Given the description of an element on the screen output the (x, y) to click on. 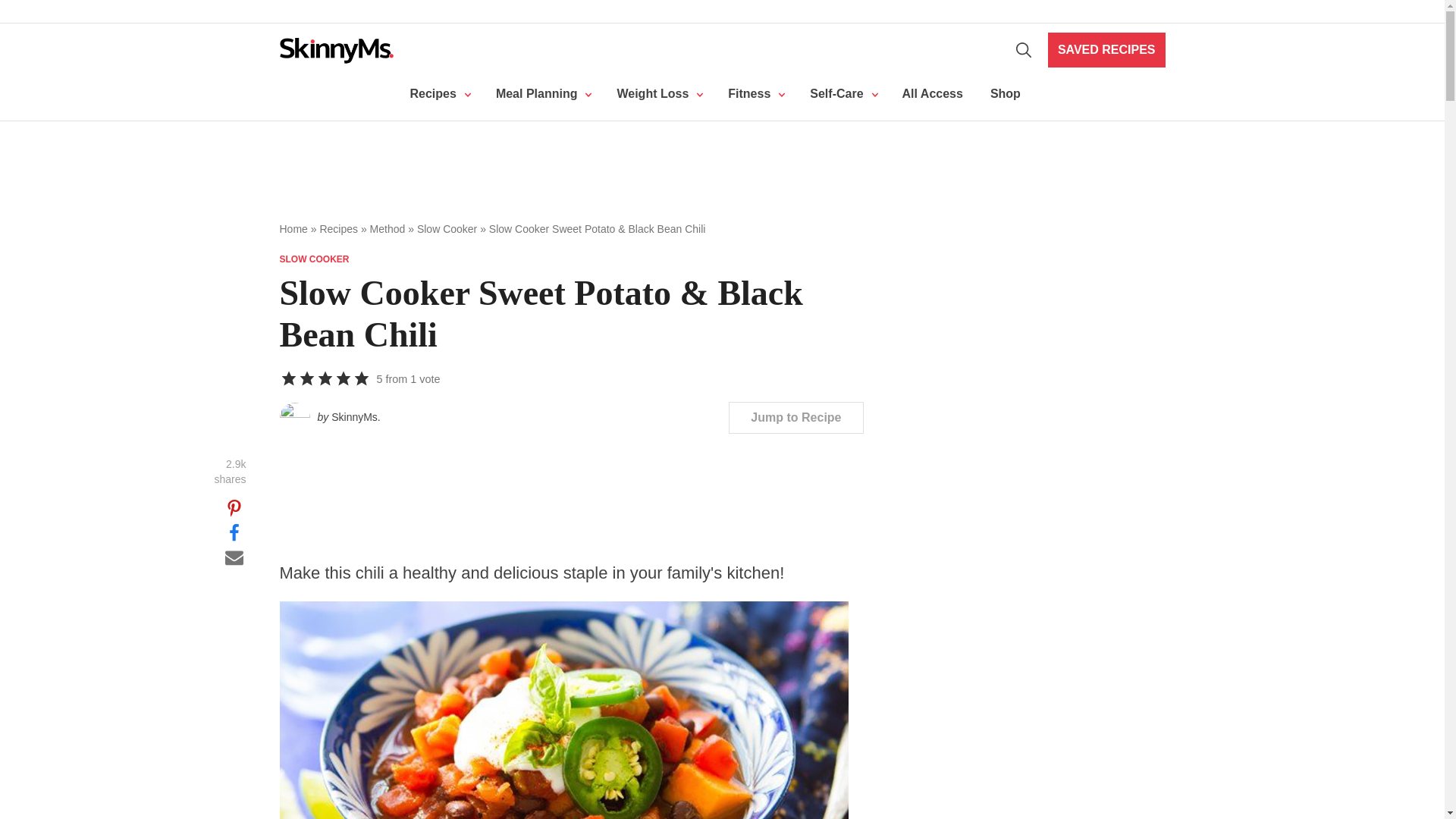
Share via Email (233, 556)
Search (1023, 49)
SAVED RECIPES (1107, 49)
Weight Loss Recipes And Menus (541, 94)
Skinny Ms. (336, 49)
Recipes (438, 94)
Share on Facebook (233, 532)
Share on Pinterest (233, 508)
